Given the description of an element on the screen output the (x, y) to click on. 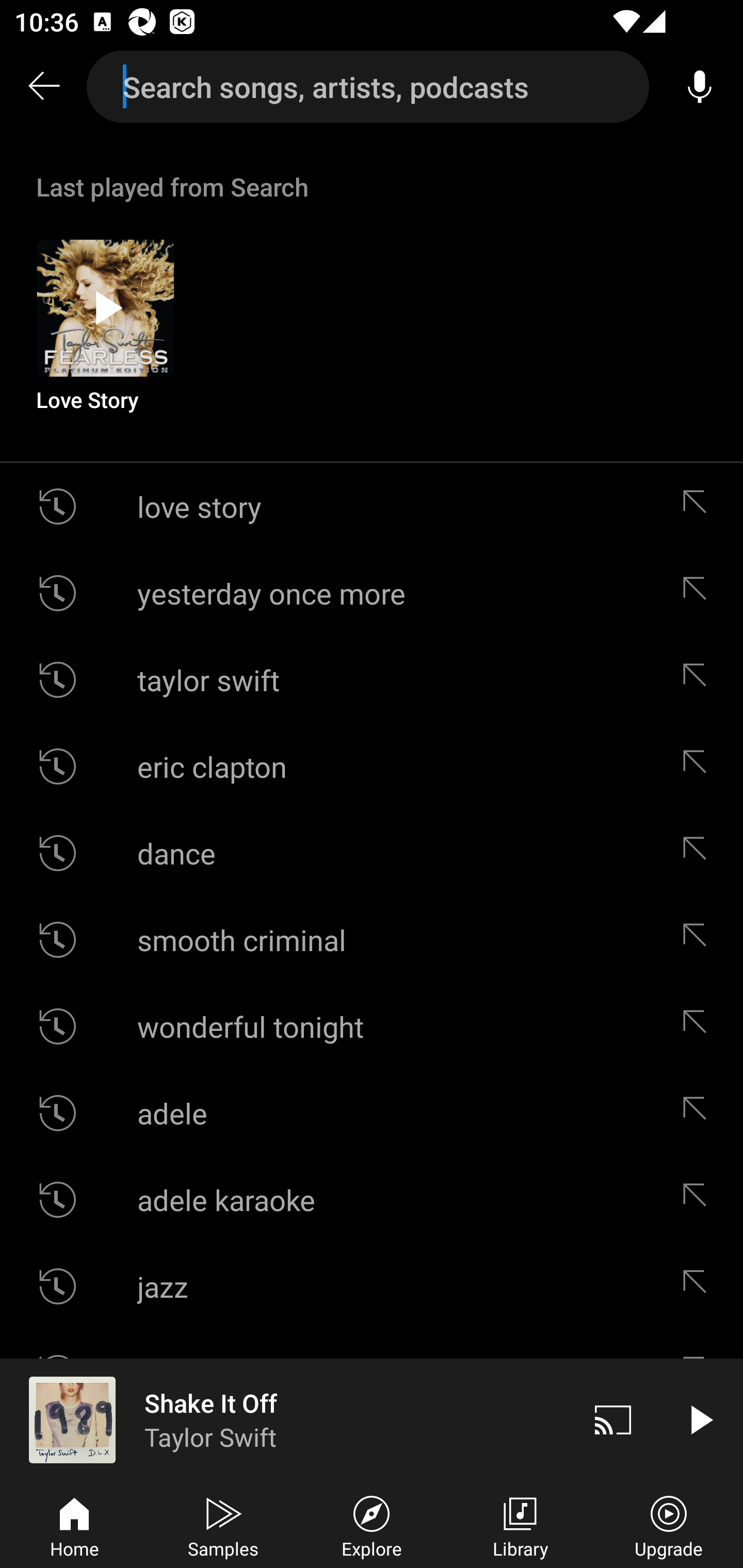
Search back (43, 86)
Search songs, artists, podcasts (367, 86)
Voice search (699, 86)
love story Edit suggestion love story (371, 506)
Edit suggestion love story (699, 506)
Edit suggestion yesterday once more (699, 593)
taylor swift Edit suggestion taylor swift (371, 679)
Edit suggestion taylor swift (699, 679)
eric clapton Edit suggestion eric clapton (371, 765)
Edit suggestion eric clapton (699, 765)
dance Edit suggestion dance (371, 852)
Edit suggestion dance (699, 852)
smooth criminal Edit suggestion smooth criminal (371, 939)
Edit suggestion smooth criminal (699, 939)
Edit suggestion wonderful tonight (699, 1026)
adele Edit suggestion adele (371, 1113)
Edit suggestion adele (699, 1113)
adele karaoke Edit suggestion adele karaoke (371, 1200)
Edit suggestion adele karaoke (699, 1200)
jazz Edit suggestion jazz (371, 1286)
Edit suggestion jazz (699, 1286)
Shake It Off Taylor Swift (284, 1419)
Cast. Disconnected (612, 1419)
Play video (699, 1419)
Home (74, 1524)
Samples (222, 1524)
Explore (371, 1524)
Library (519, 1524)
Upgrade (668, 1524)
